Given the description of an element on the screen output the (x, y) to click on. 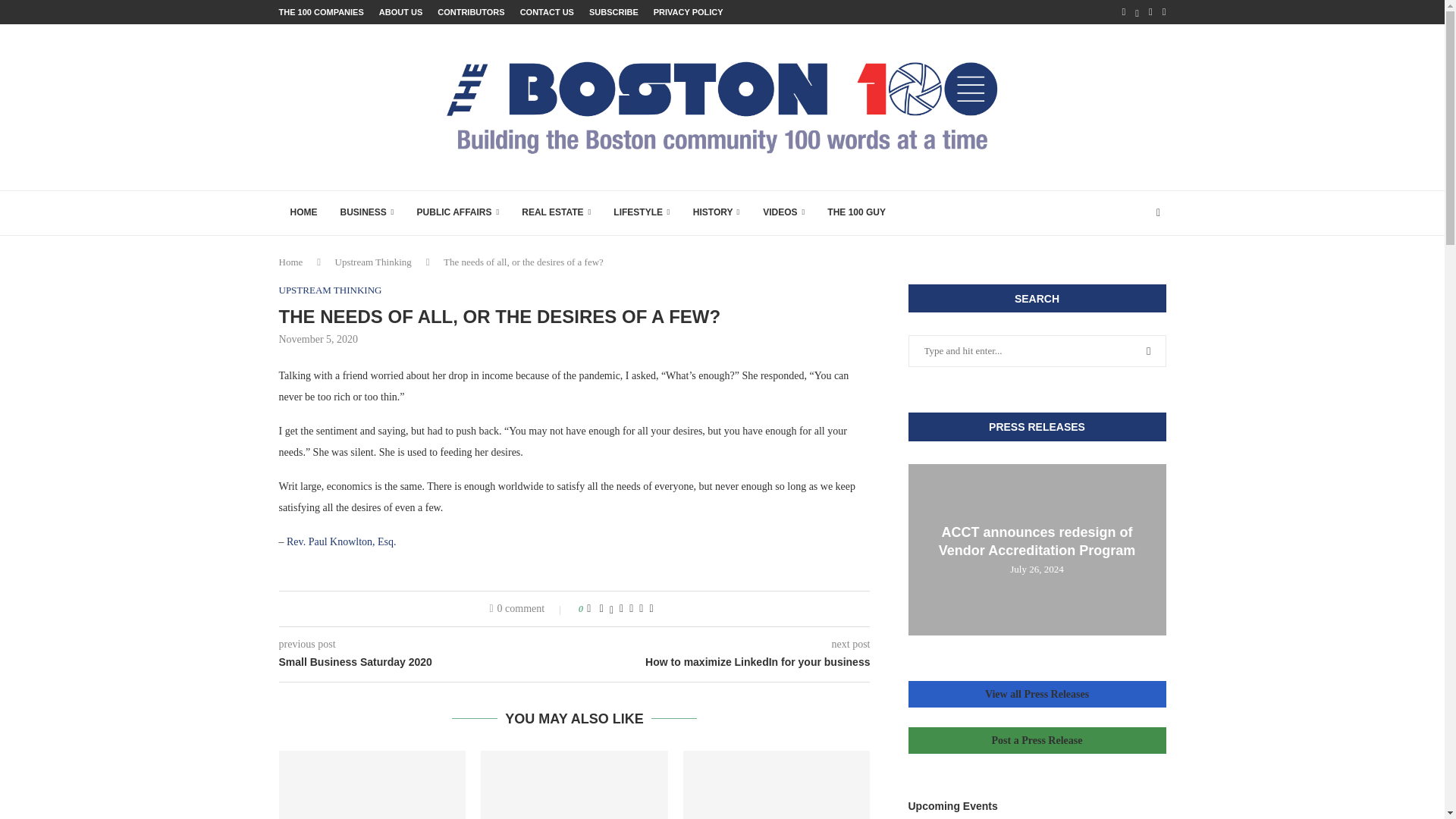
VIDEOS (783, 212)
HOME (304, 212)
LIFESTYLE (641, 212)
Variety of viewpoints is what makes America great (372, 785)
HISTORY (716, 212)
ACCT announces redesign of Vendor Accreditation Program (1037, 540)
THE 100 COMPANIES (321, 12)
ACCT announces redesign of Vendor Accreditation Program (1037, 550)
Upstream Thinking (373, 261)
UPSTREAM THINKING (330, 290)
